Given the description of an element on the screen output the (x, y) to click on. 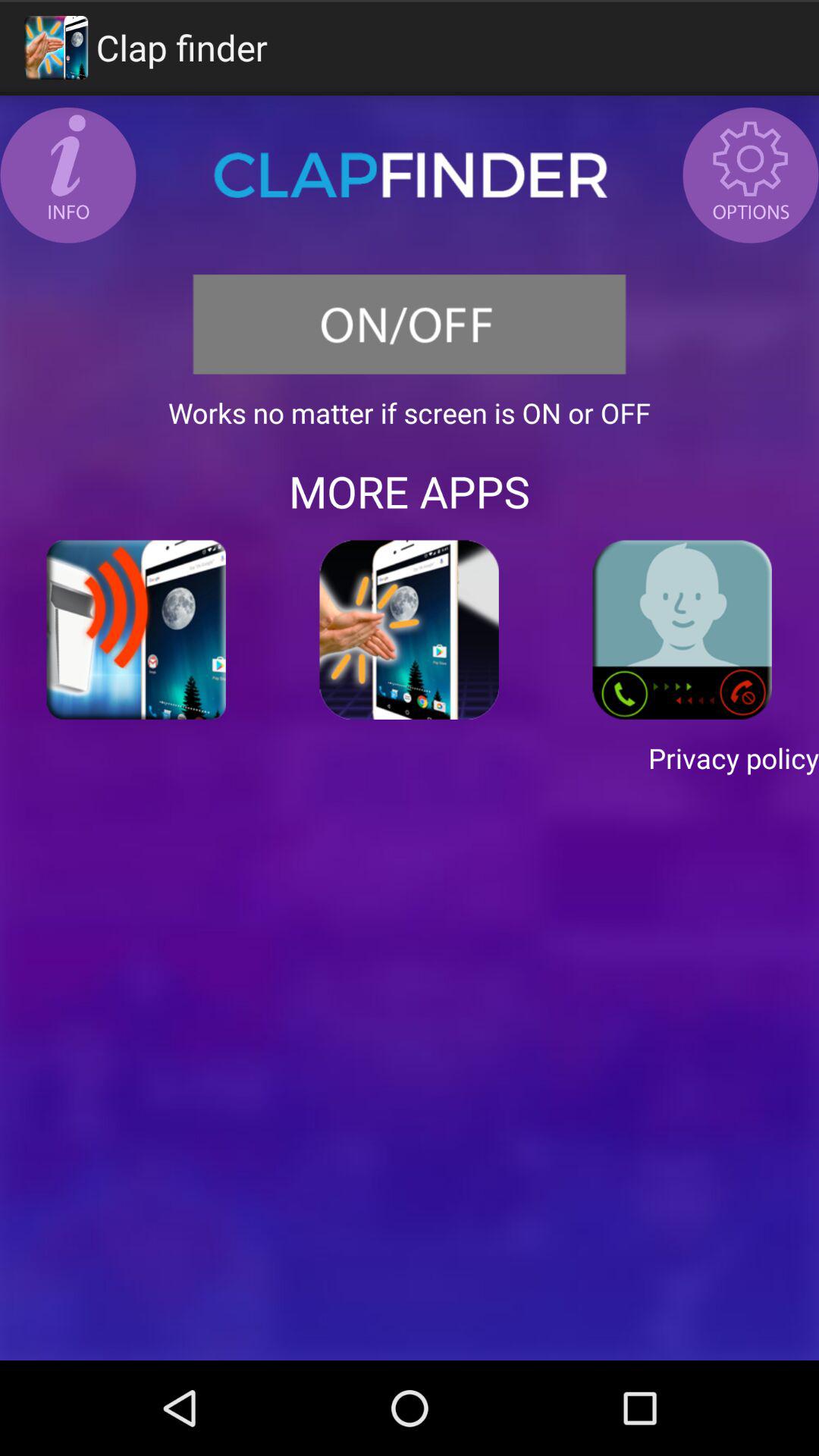
open item above the privacy policy item (136, 629)
